Given the description of an element on the screen output the (x, y) to click on. 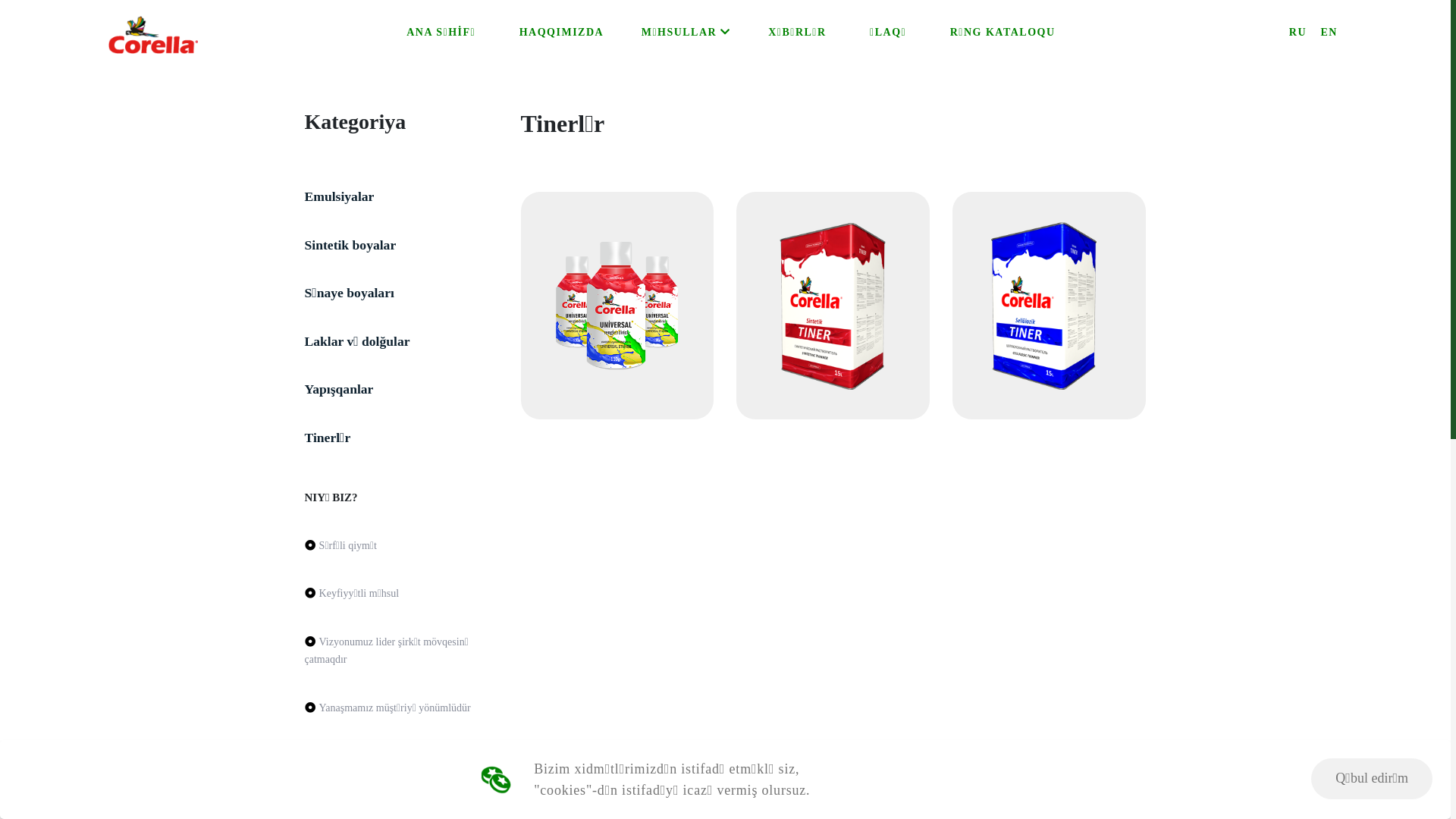
RU Element type: text (1297, 32)
Sintetik boyalar Element type: text (350, 244)
Emulsiyalar Element type: text (339, 195)
HAQQIMIZDA Element type: text (561, 32)
EN Element type: text (1328, 32)
